Given the description of an element on the screen output the (x, y) to click on. 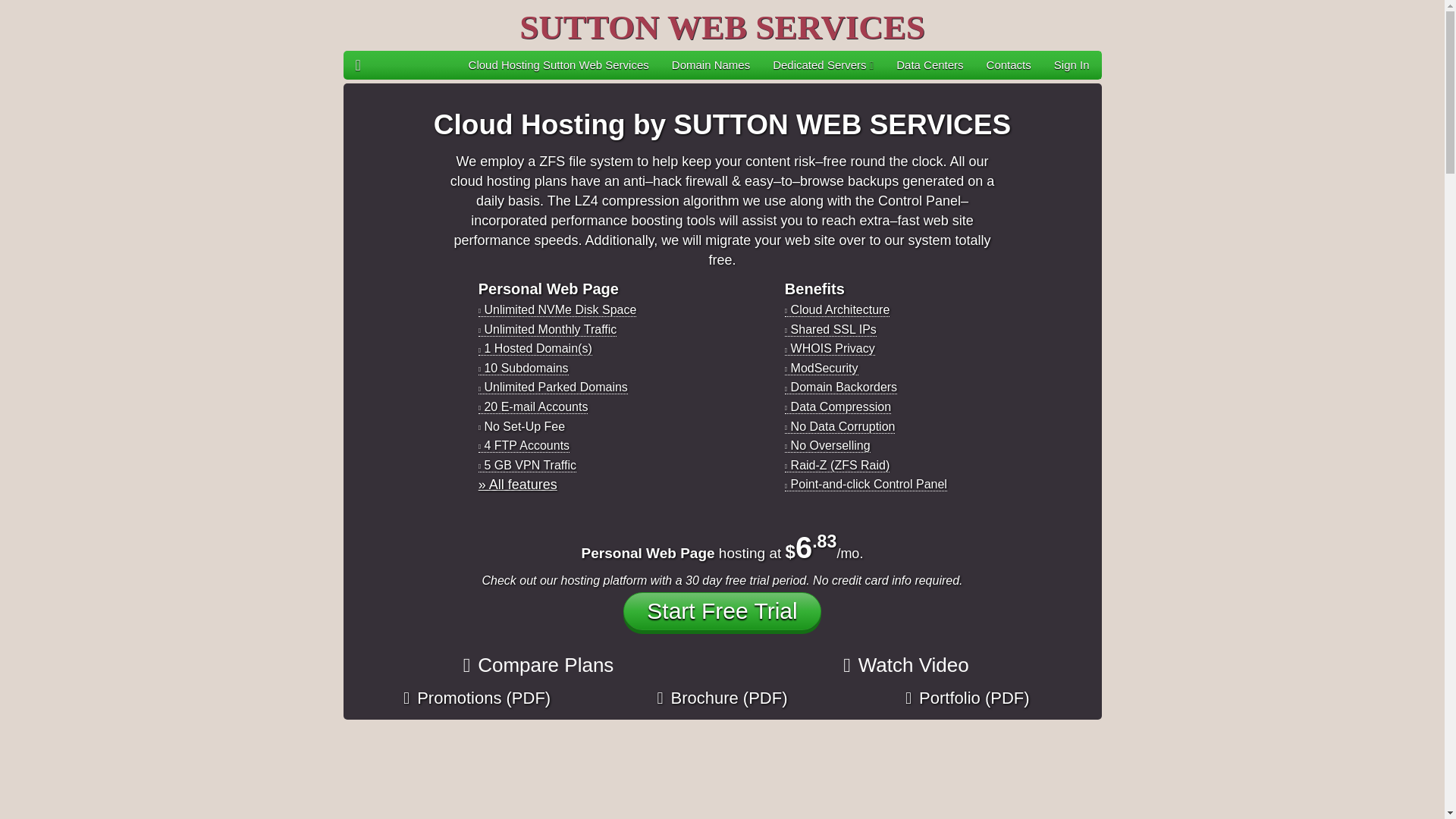
Point-and-click Control Panel (865, 483)
Domain Names (711, 64)
Sign In (1071, 64)
SUTTON WEB SERVICES (721, 26)
4 FTP Accounts (524, 444)
WHOIS Privacy (829, 347)
Unlimited Parked Domains (553, 386)
No Data Corruption (839, 426)
